Given the description of an element on the screen output the (x, y) to click on. 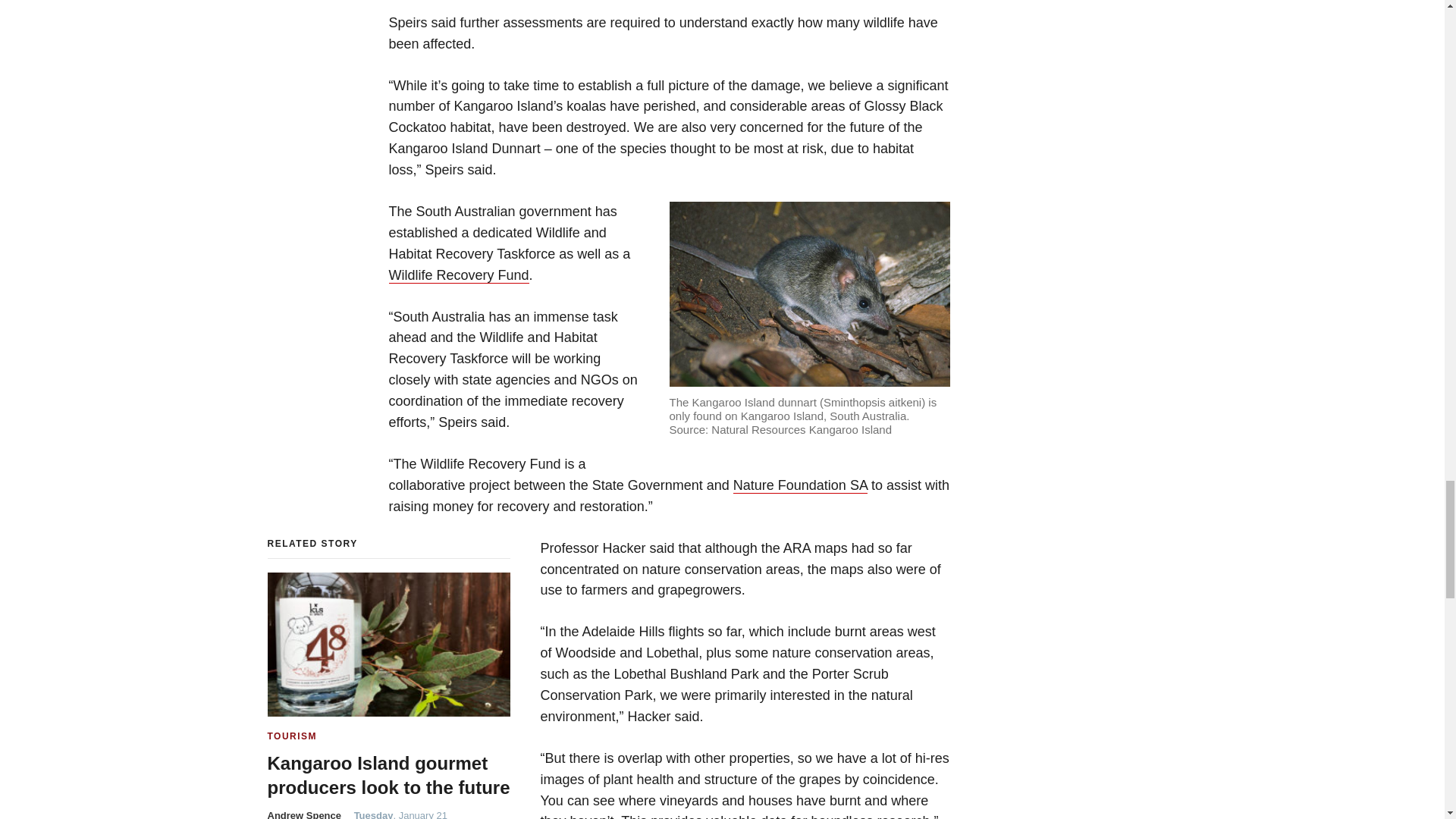
Wildlife Recovery Fund (458, 275)
Nature Foundation SA (800, 485)
Kangaroo Island gourmet producers look to the future (387, 774)
TOURISM (291, 736)
Andrew Spence (304, 814)
